Given the description of an element on the screen output the (x, y) to click on. 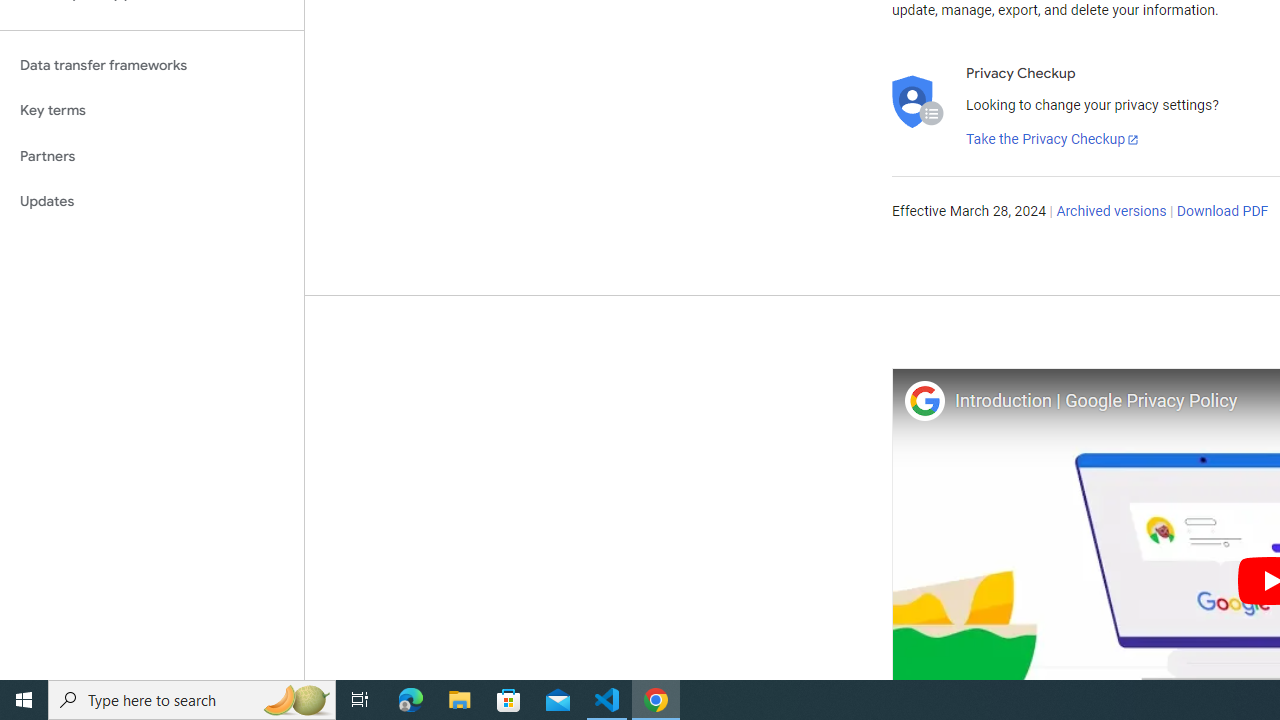
Partners (152, 156)
Take the Privacy Checkup (1053, 140)
Data transfer frameworks (152, 65)
Updates (152, 201)
Download PDF (1222, 212)
Key terms (152, 110)
Photo image of Google (924, 400)
Archived versions (1111, 212)
